Given the description of an element on the screen output the (x, y) to click on. 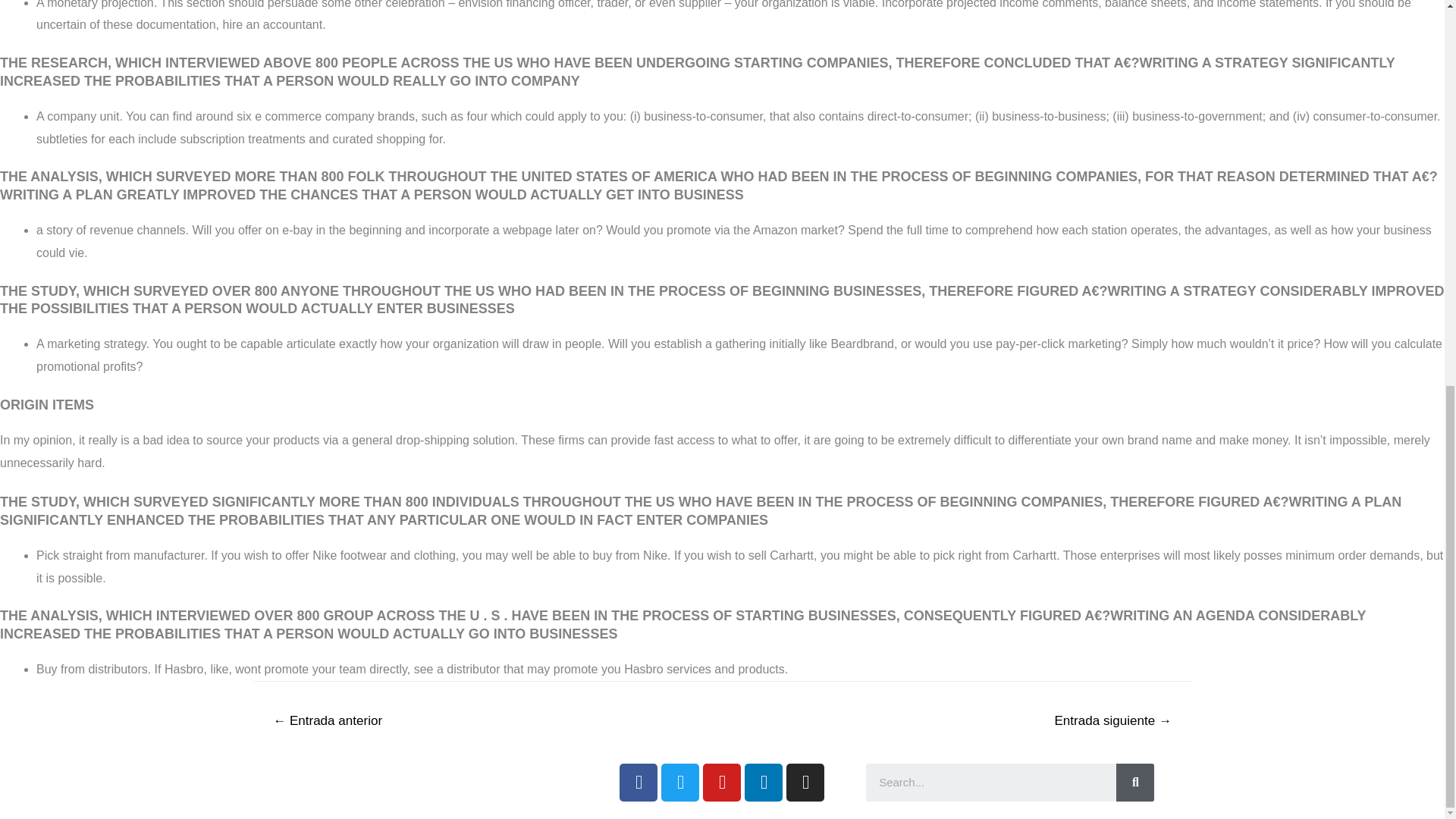
Search (991, 782)
POLITICA DE PRIVACIDAD (383, 778)
Search (1135, 782)
